Given the description of an element on the screen output the (x, y) to click on. 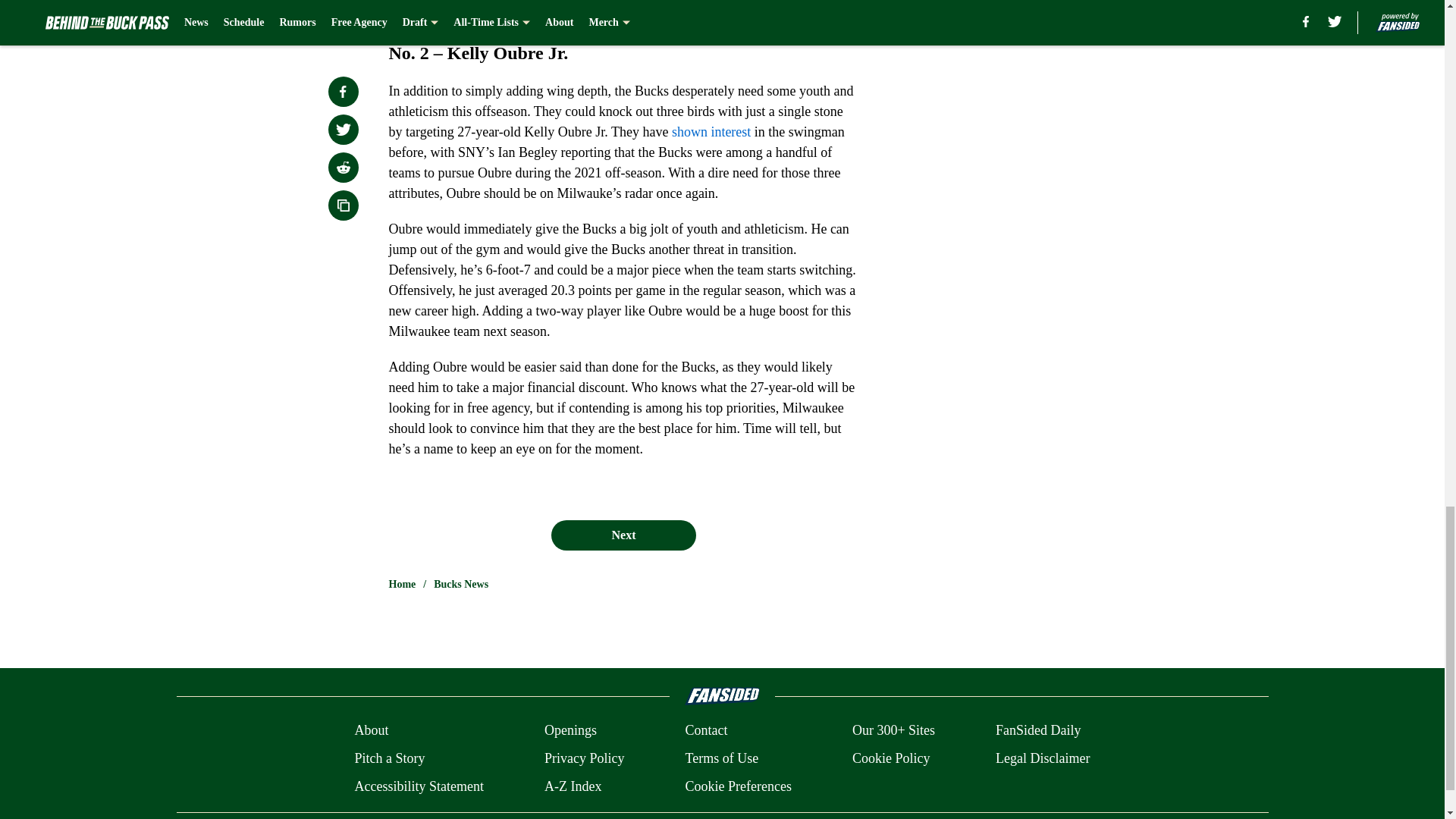
About (370, 730)
shown interest (711, 131)
Next (622, 535)
Home (401, 584)
Openings (570, 730)
Contact (705, 730)
Bucks News (460, 584)
